Given the description of an element on the screen output the (x, y) to click on. 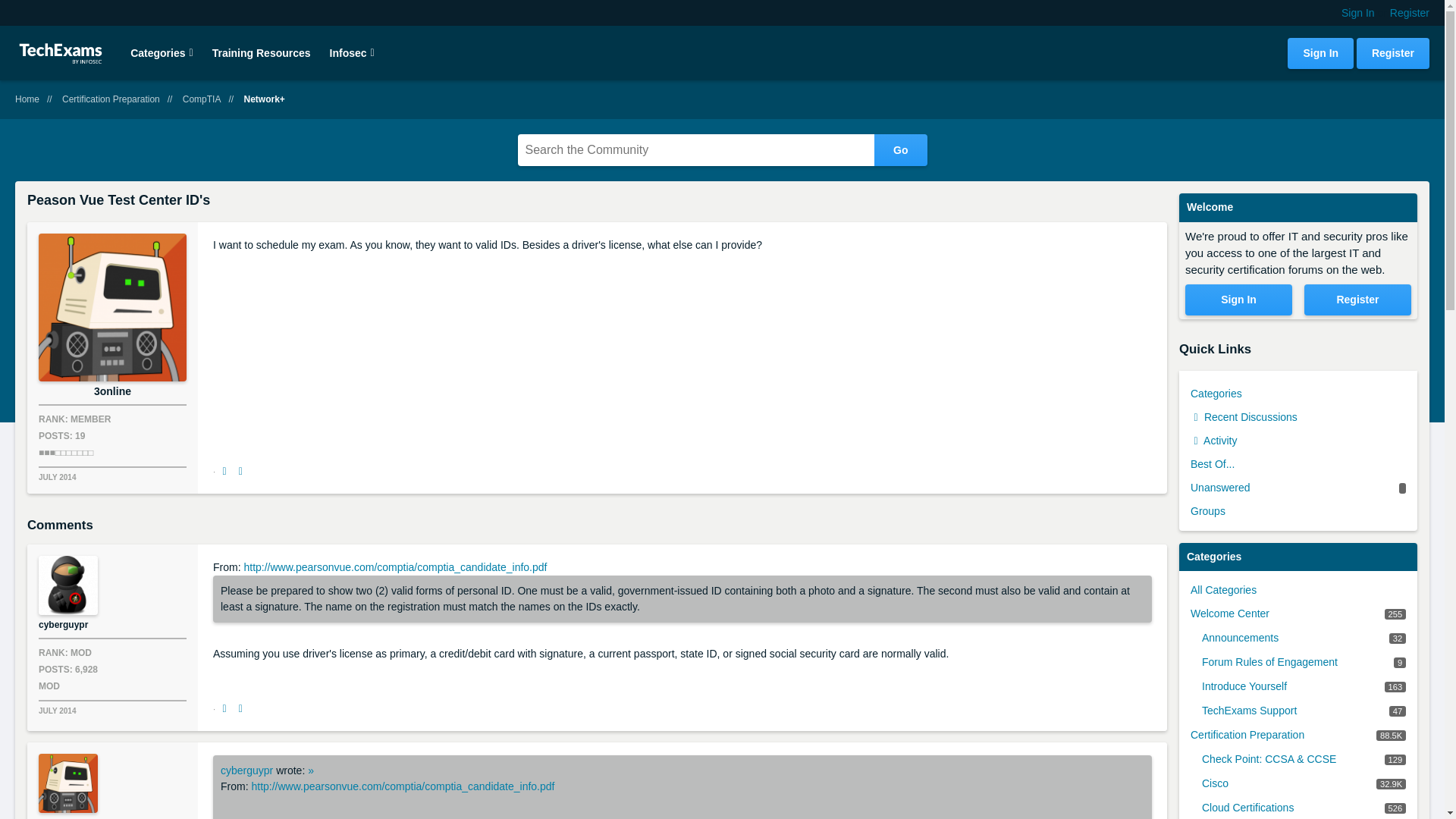
32,914 discussions (1391, 783)
Share on Twitter (240, 471)
3online (68, 783)
Go (900, 150)
cyberguypr (68, 585)
Register (1409, 12)
Training Resources (261, 52)
32 discussions (1397, 637)
129 discussions (1396, 759)
3online (112, 307)
